Given the description of an element on the screen output the (x, y) to click on. 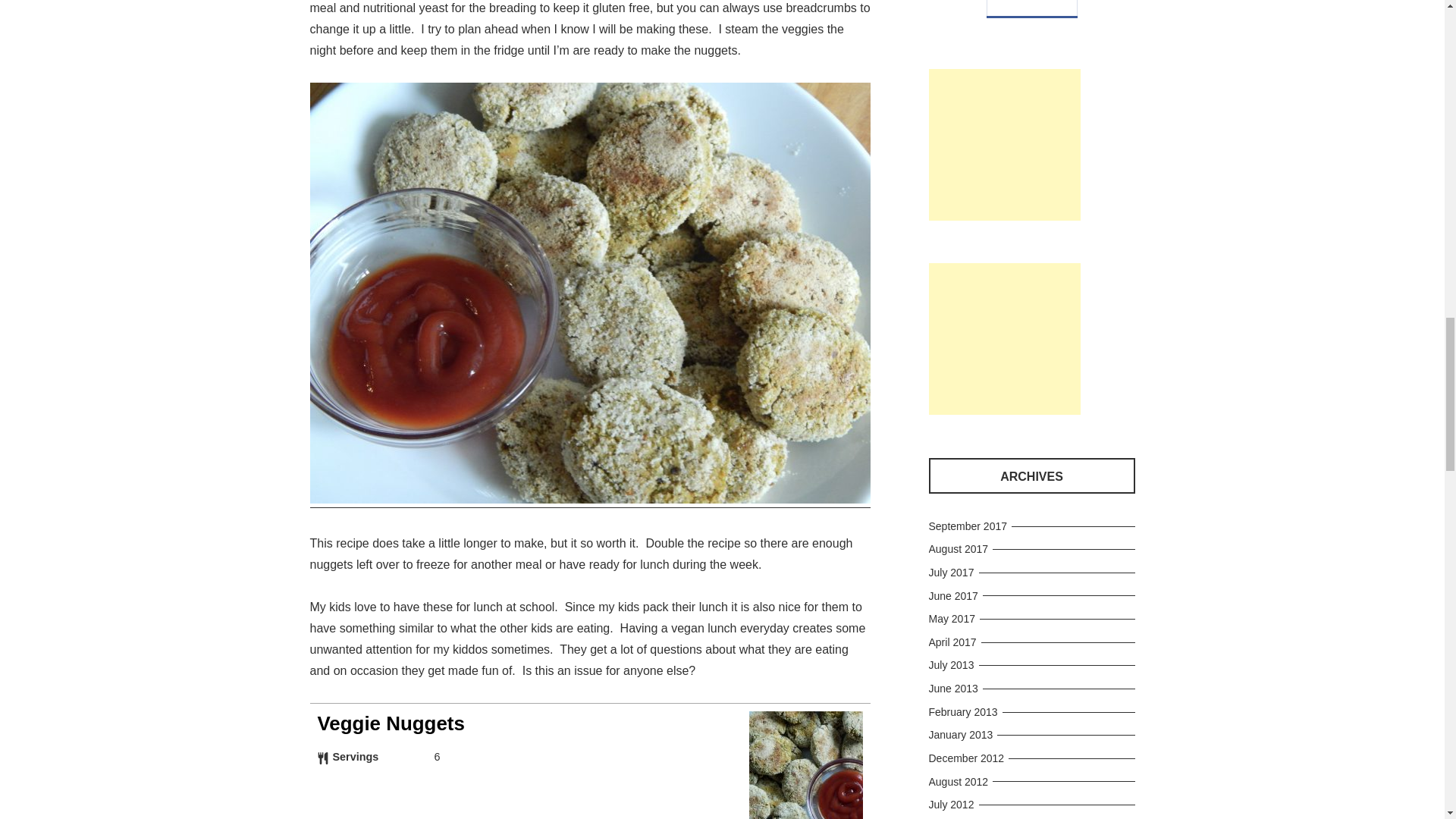
Advertisement (1004, 338)
Advertisement (1004, 144)
September 2017 (969, 526)
